Given the description of an element on the screen output the (x, y) to click on. 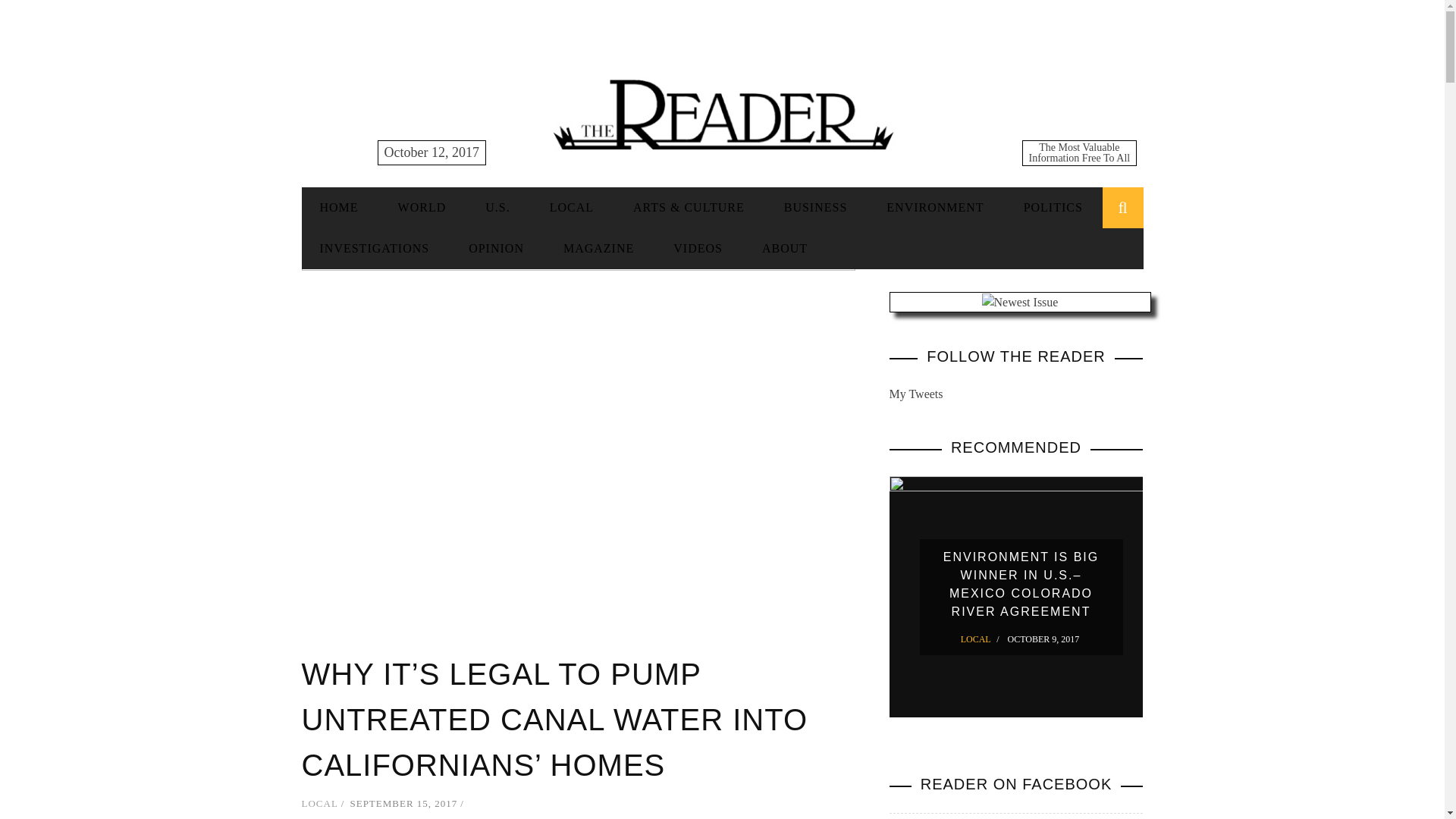
HOME (339, 206)
WORLD (422, 206)
